Given the description of an element on the screen output the (x, y) to click on. 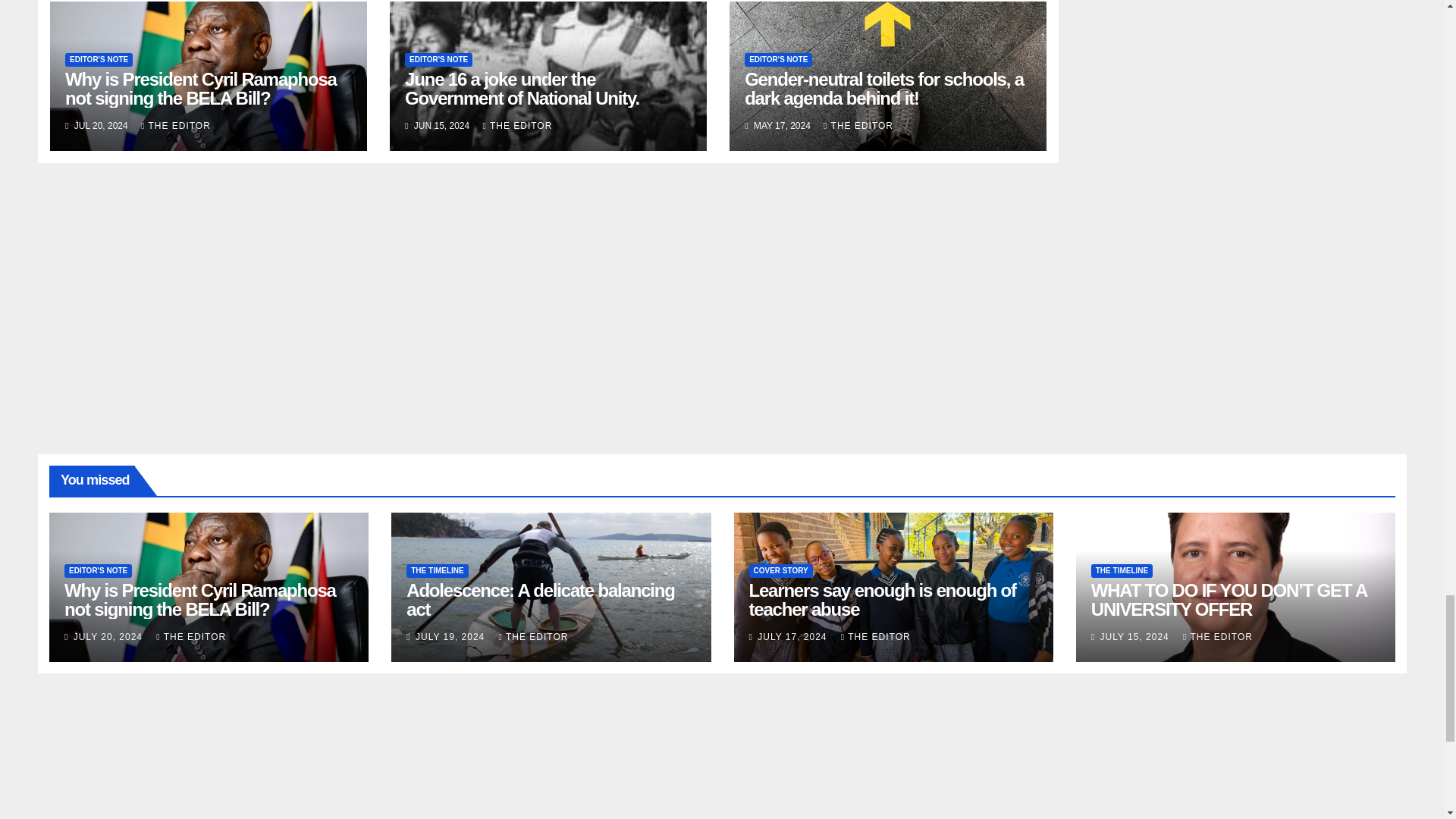
Permalink to: Adolescence: A delicate balancing act (540, 599)
Why is President Cyril Ramaphosa not signing the BELA Bill? (200, 88)
EDITOR'S NOTE (98, 59)
THE EDITOR (176, 125)
